Given the description of an element on the screen output the (x, y) to click on. 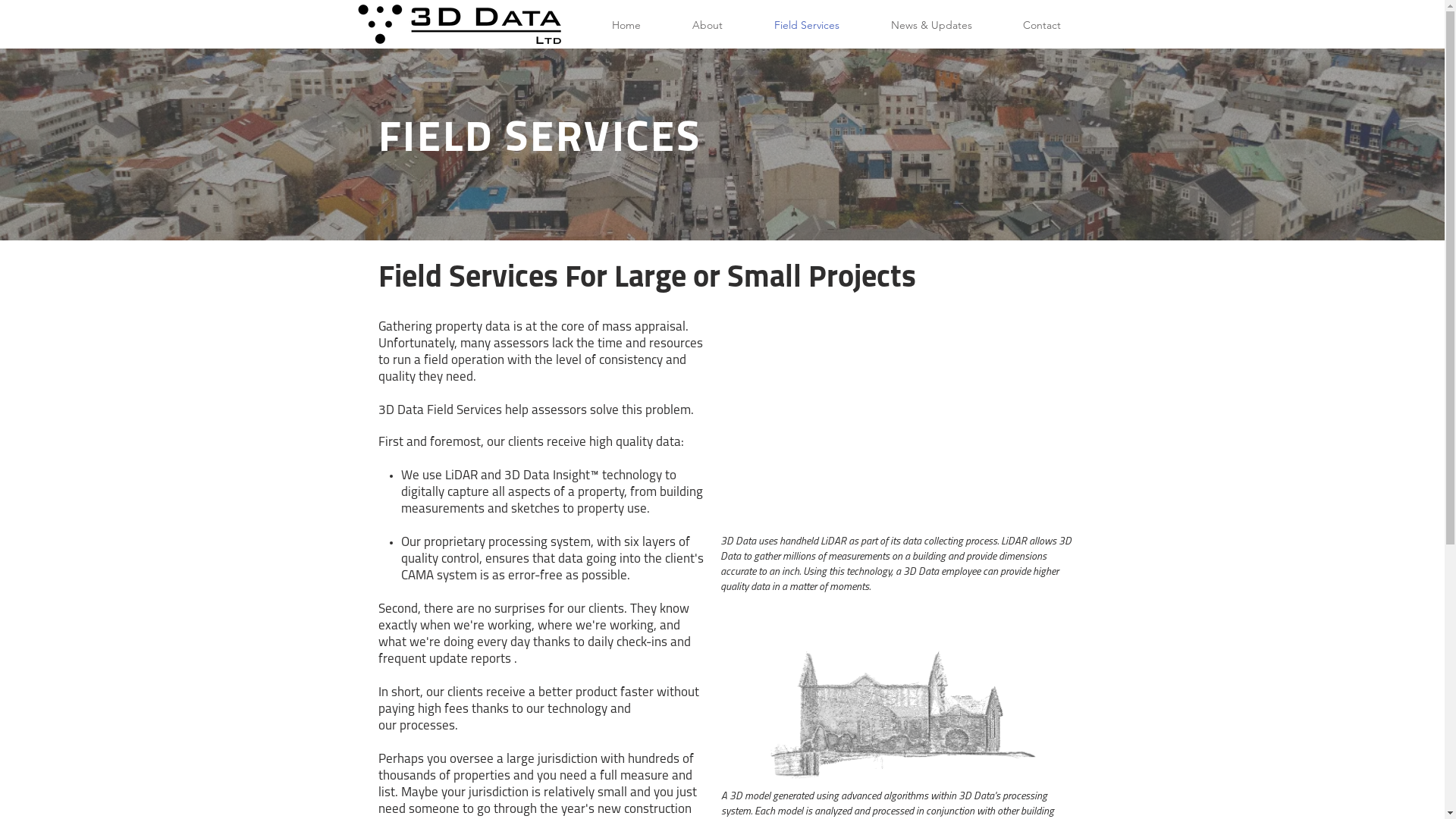
News & Updates Element type: text (930, 25)
Home Element type: text (625, 25)
Contact Element type: text (1041, 25)
External YouTube Element type: hover (898, 421)
Field Services Element type: text (805, 25)
About Element type: text (706, 25)
